Given the description of an element on the screen output the (x, y) to click on. 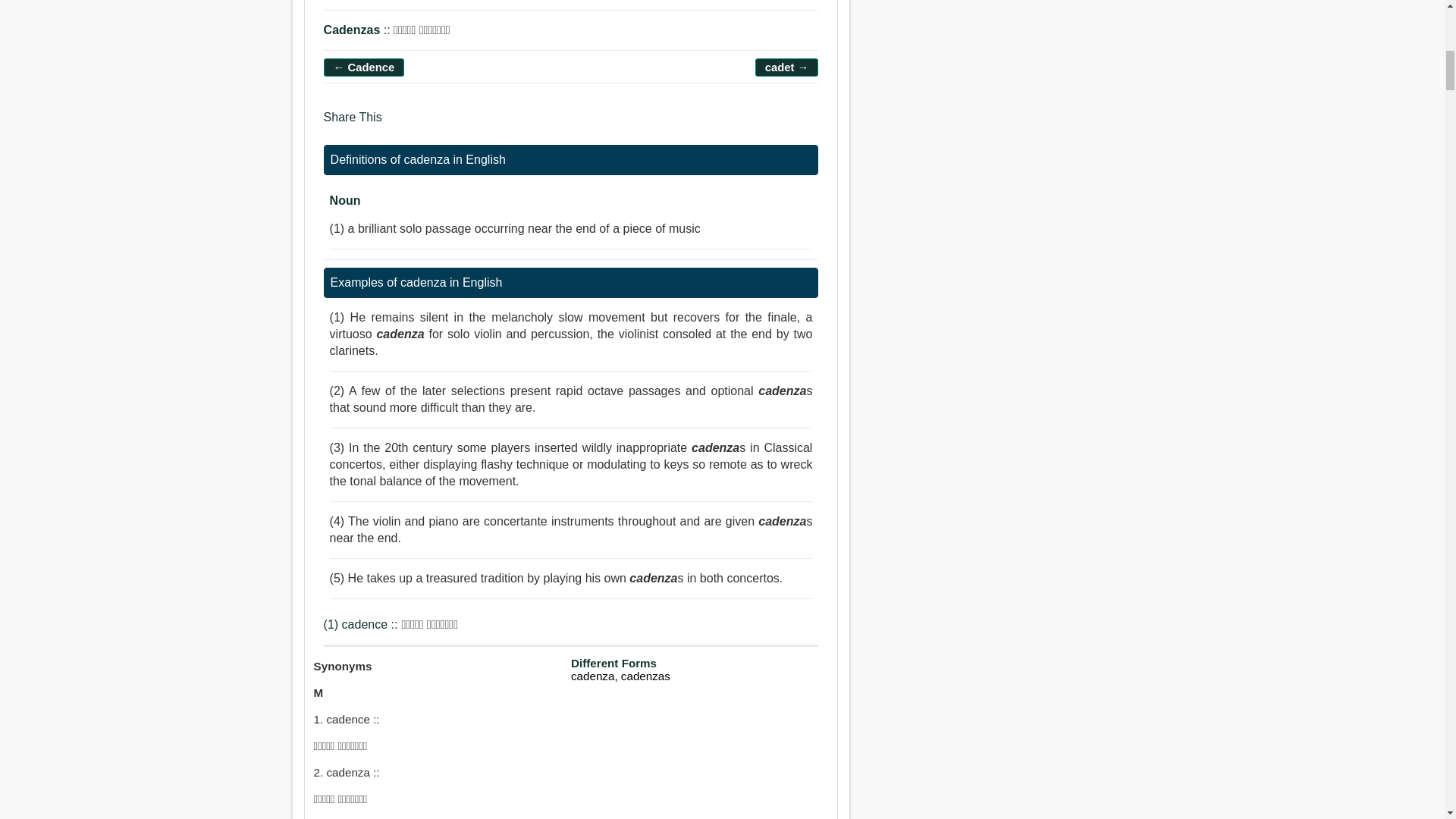
More Share (485, 124)
Facebook (398, 124)
Linkedin (458, 124)
English to Bangla meaning of cadence (364, 66)
English to Bangla meaning of cadet (786, 66)
Twitter (428, 124)
